Given the description of an element on the screen output the (x, y) to click on. 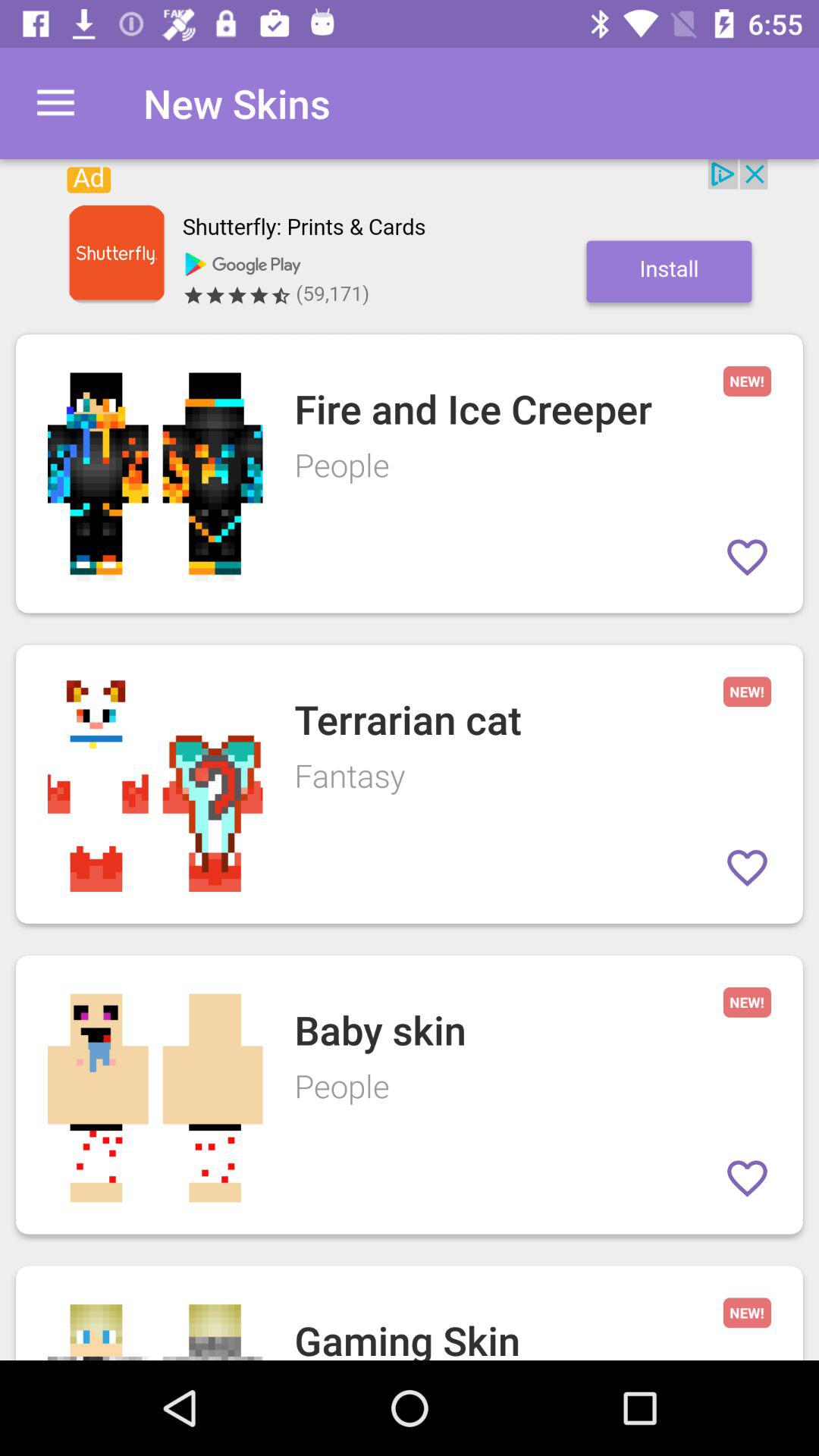
click on the heart symbol option on the  right side of fire and ice creeper (747, 557)
